Given the description of an element on the screen output the (x, y) to click on. 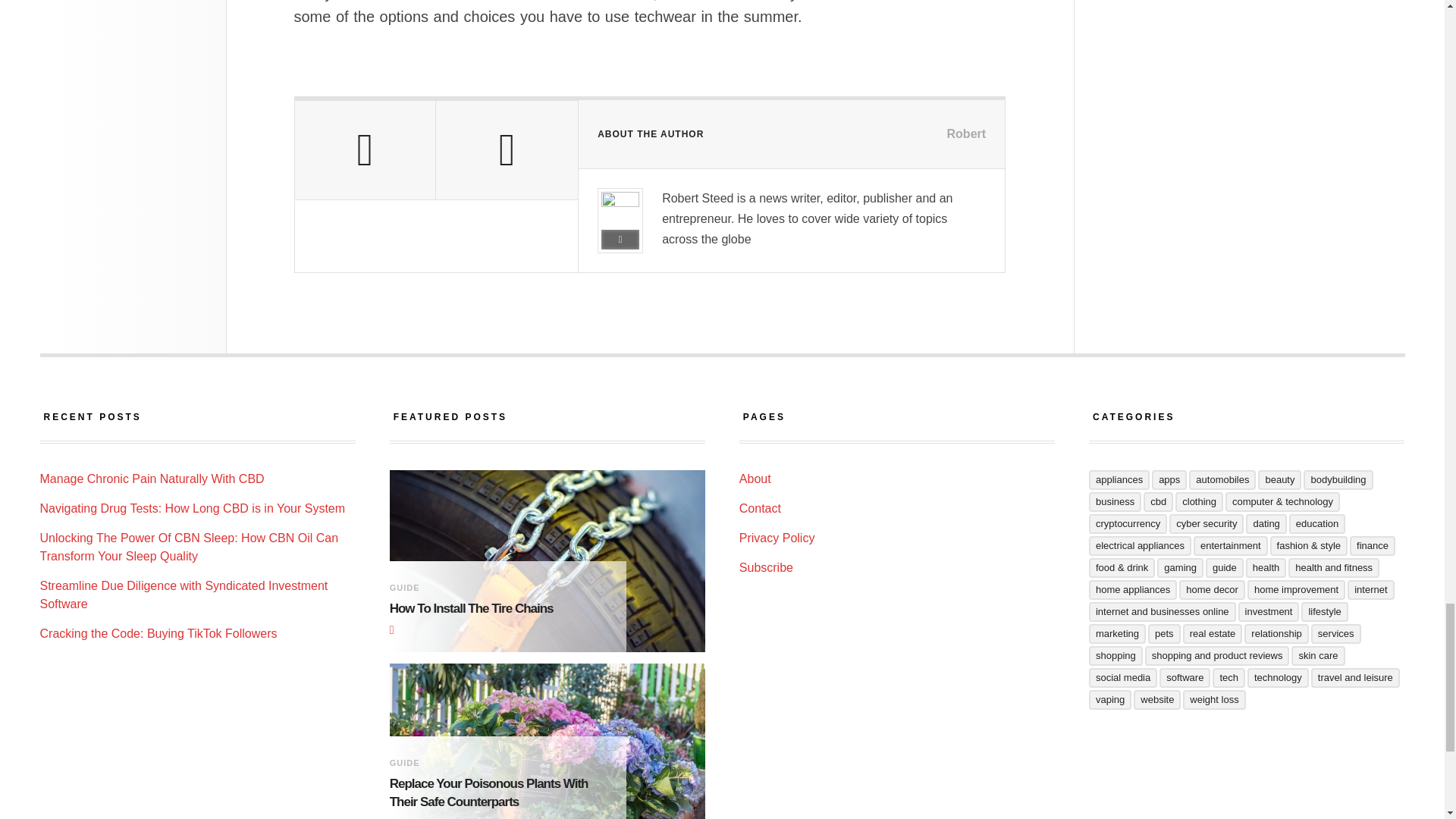
Next Post (506, 149)
Previous Post (364, 149)
Author's Link (620, 239)
